Given the description of an element on the screen output the (x, y) to click on. 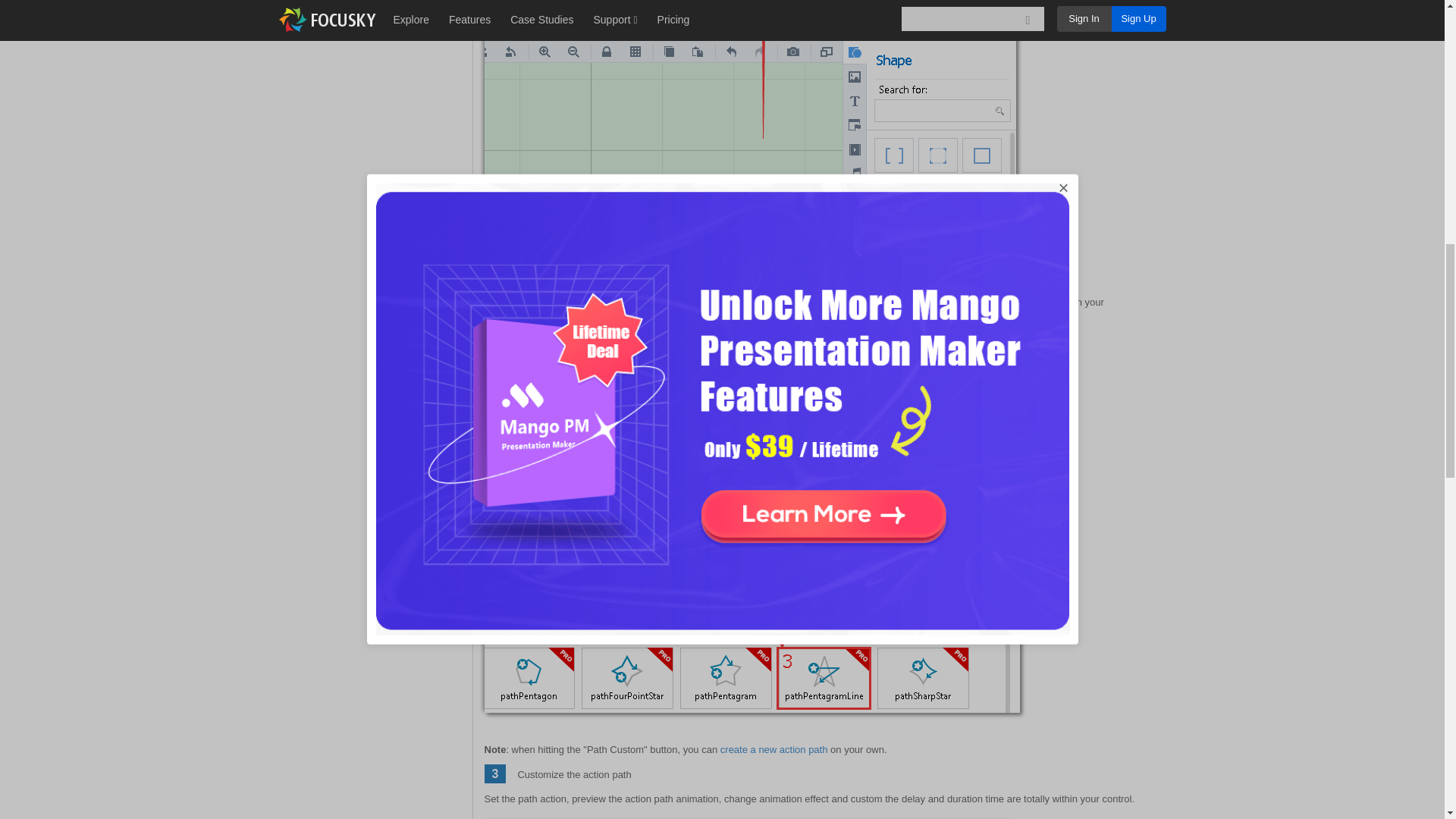
create a new action path (774, 749)
